Given the description of an element on the screen output the (x, y) to click on. 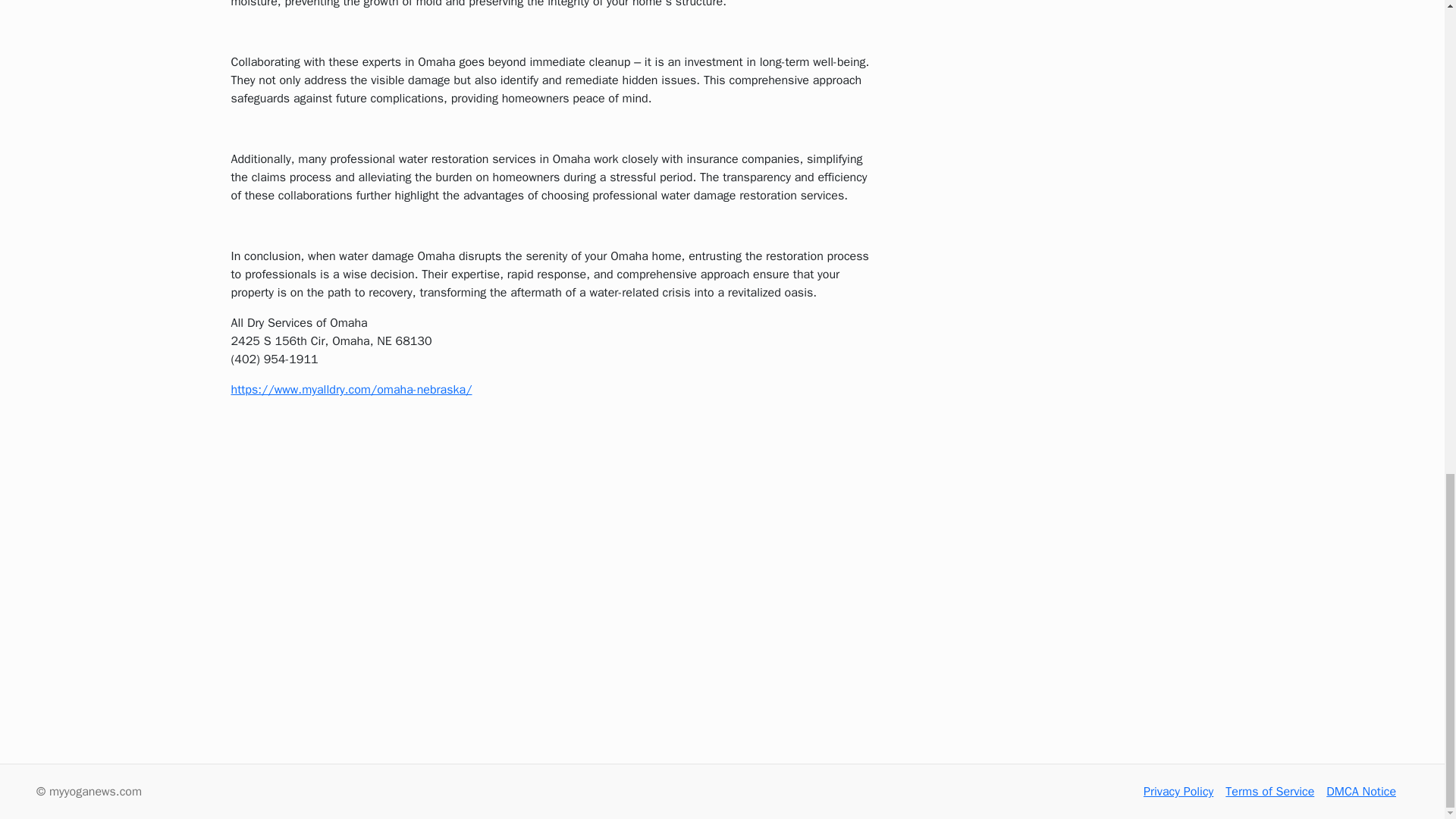
Terms of Service (1269, 791)
DMCA Notice (1361, 791)
Privacy Policy (1177, 791)
